Given the description of an element on the screen output the (x, y) to click on. 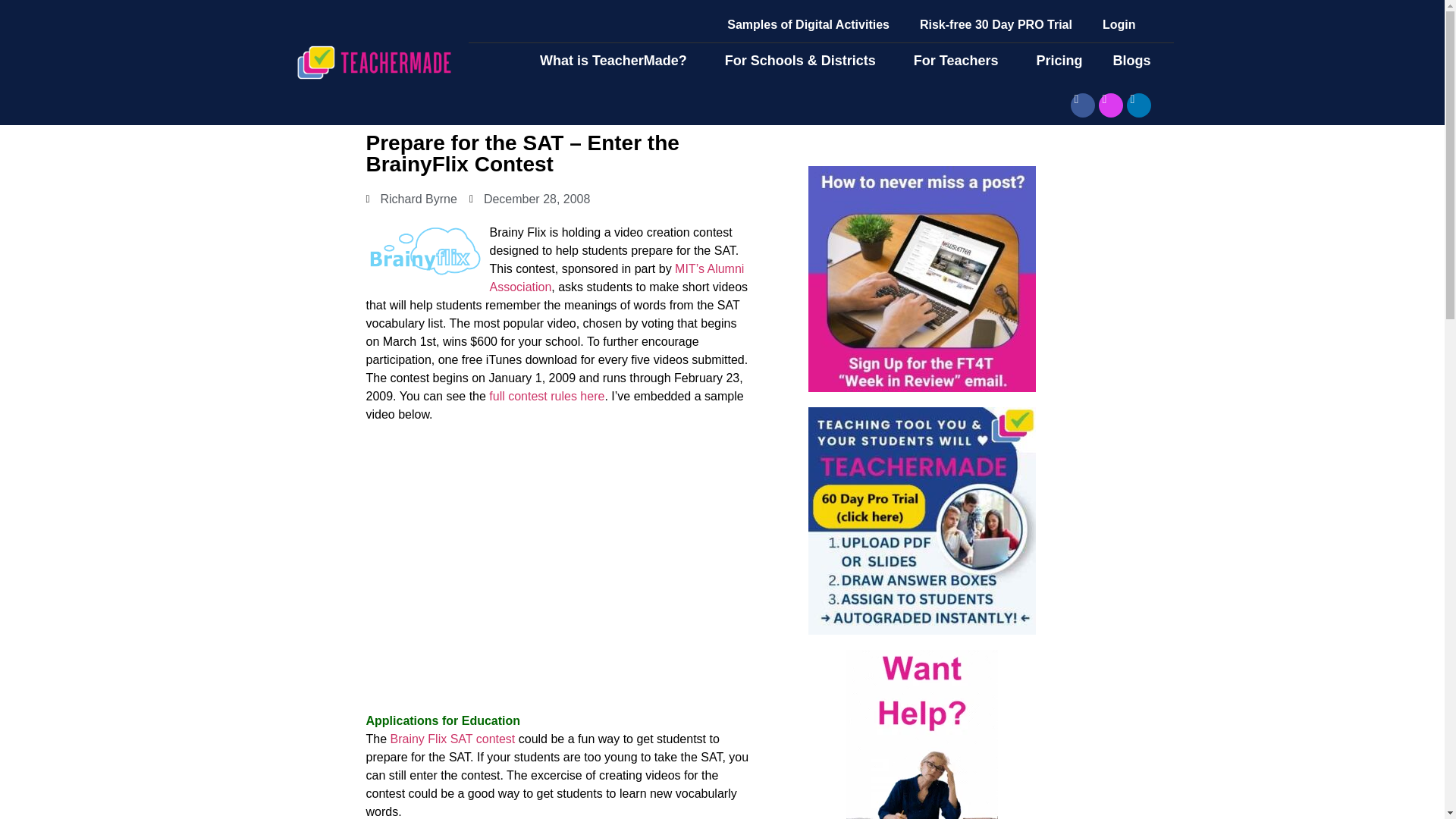
Risk-free 30 Day PRO Trial (995, 24)
For Teachers (960, 60)
Blogs (1135, 60)
Login (1119, 24)
What is TeacherMade? (617, 60)
Pricing (1058, 60)
Samples of Digital Activities (807, 24)
